Given the description of an element on the screen output the (x, y) to click on. 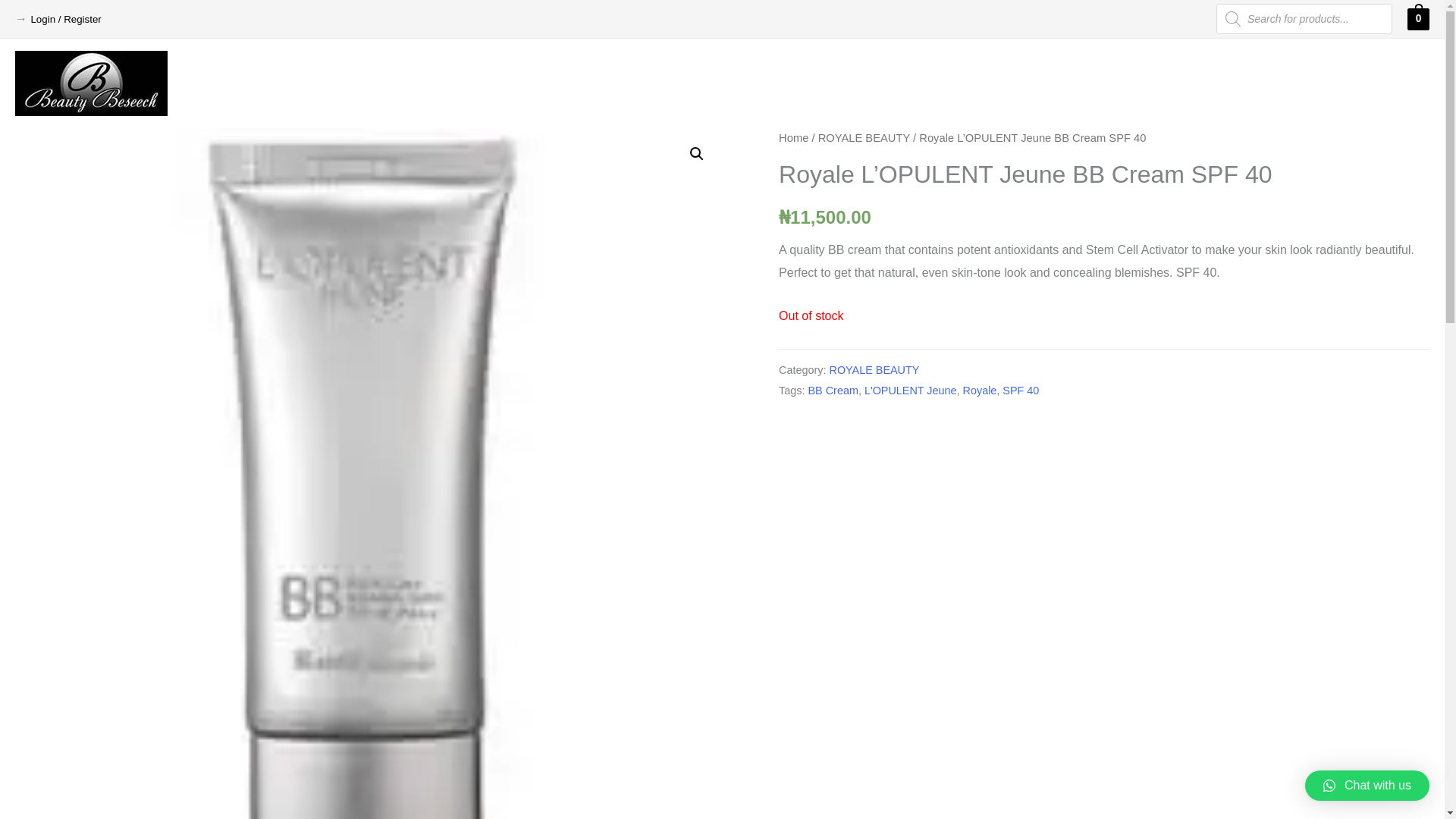
Blog (1338, 82)
Home (793, 137)
View your shopping cart (1418, 18)
ROYALE BEAUTY (864, 137)
Opening Hours (1261, 82)
Our Services (1058, 82)
Contact (1395, 82)
About Us (967, 82)
0 (1418, 18)
Home (901, 82)
Our Products (1160, 82)
